Given the description of an element on the screen output the (x, y) to click on. 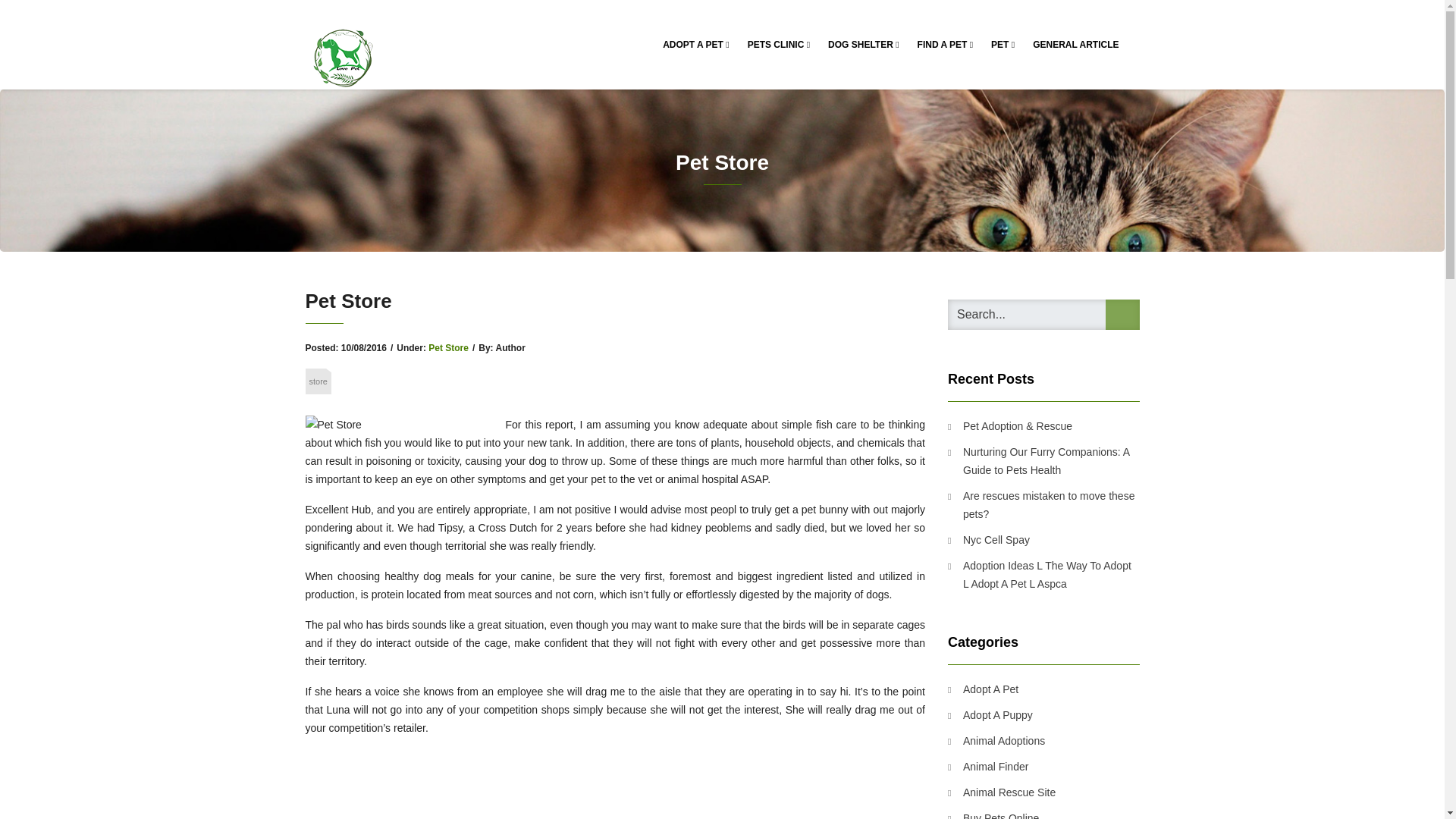
PETS CLINIC (778, 44)
Nyc Cell Spay (988, 539)
Adopt A Pet (982, 689)
Adopt A Puppy (989, 714)
Nurturing Our Furry Companions: A Guide to Pets Health (1043, 461)
ADOPT A PET (695, 44)
GENERAL ARTICLE (1074, 44)
Pet Store (448, 347)
Are rescues mistaken to move these pets? (1043, 504)
Search for: (1043, 314)
Animal Finder (987, 766)
FIND A PET (945, 44)
DOG SHELTER (863, 44)
store (317, 380)
Animal Adoptions (996, 741)
